Given the description of an element on the screen output the (x, y) to click on. 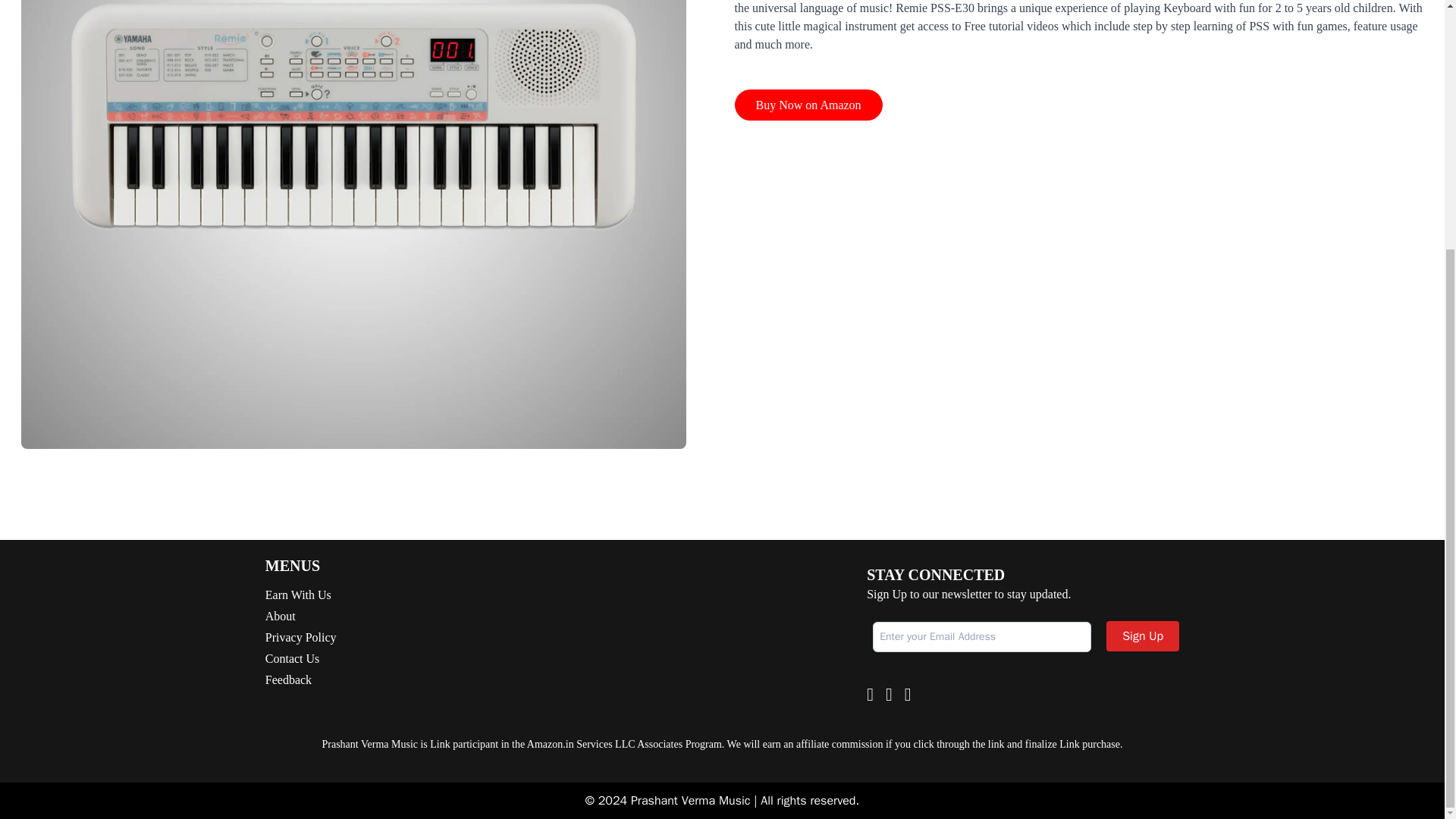
Buy Now on Amazon (807, 104)
Feedback (300, 679)
Sign Up (1142, 635)
Contact Us (300, 659)
Privacy Policy (300, 637)
Earn With Us (300, 595)
Sign Up (1142, 635)
About (300, 616)
